Given the description of an element on the screen output the (x, y) to click on. 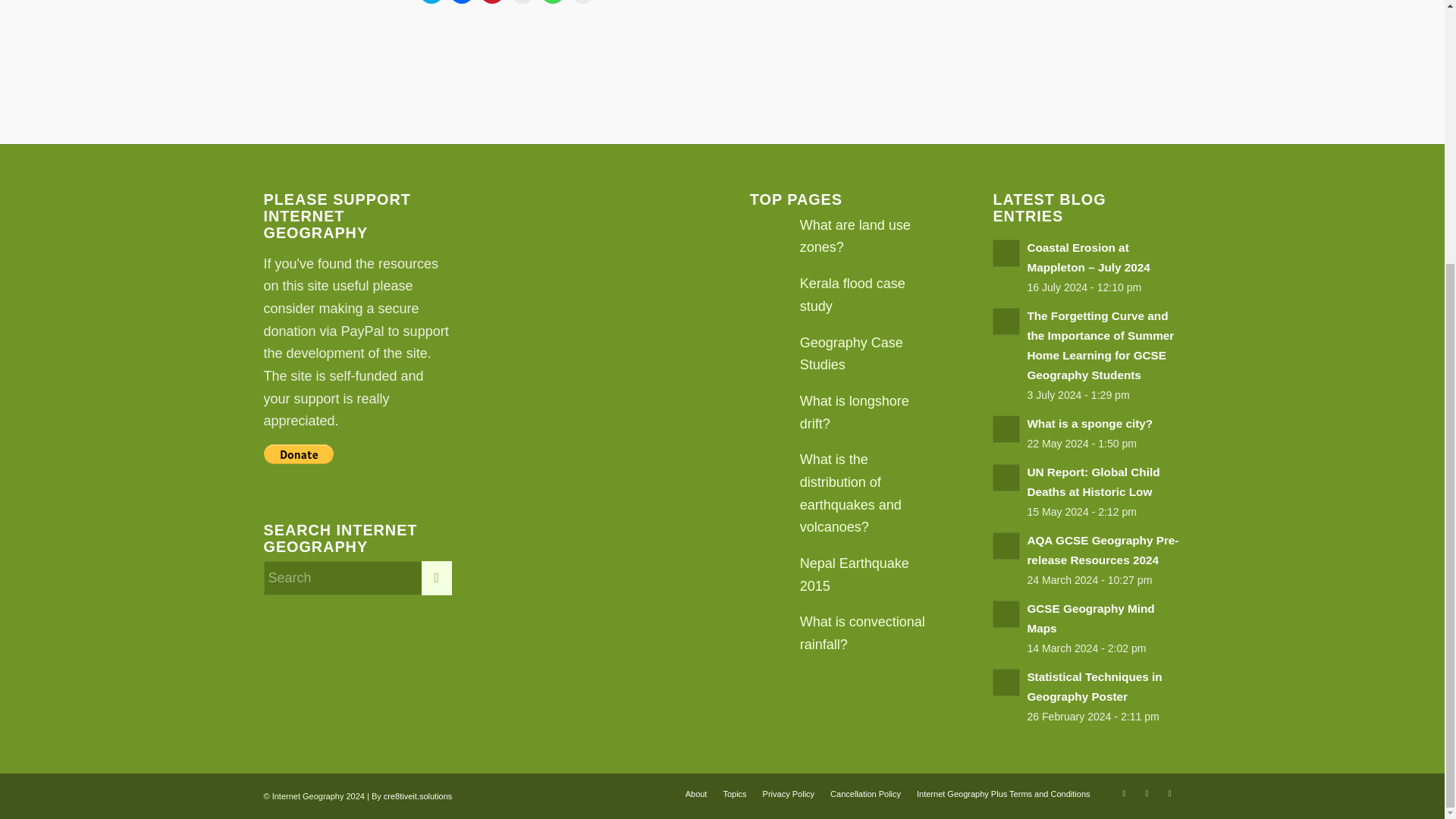
Click to email a link to a friend (521, 2)
Click to start search (436, 578)
Click to share on WhatsApp (552, 2)
Click to share on Facebook (460, 2)
Click to print (582, 2)
Click to share on Twitter (430, 2)
Click to share on Pinterest (491, 2)
